Given the description of an element on the screen output the (x, y) to click on. 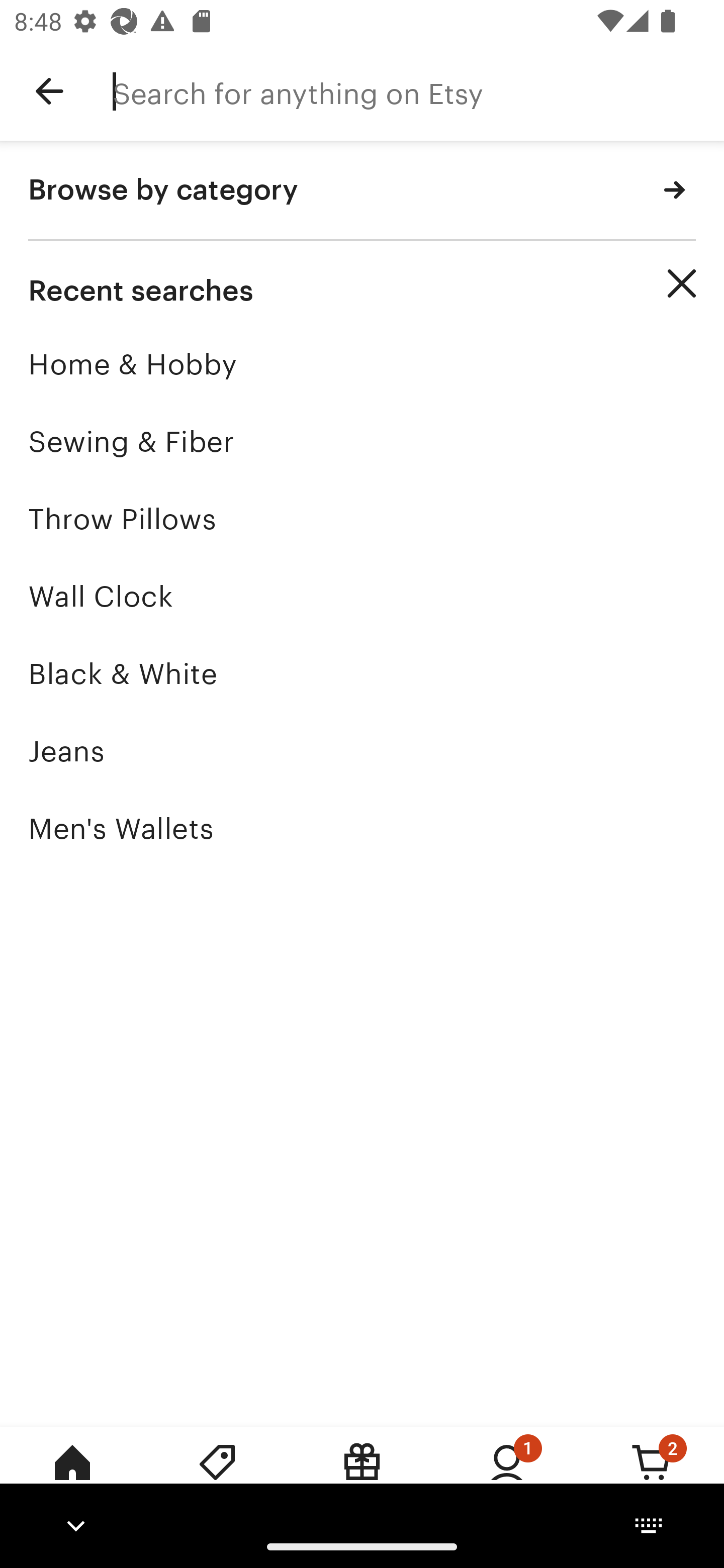
Navigate up (49, 91)
Search for anything on Etsy (418, 91)
Browse by category (362, 191)
Clear (681, 283)
Home & Hobby (362, 364)
Sewing & Fiber (362, 440)
Throw Pillows (362, 518)
Wall Clock (362, 596)
Black & White (362, 673)
Jeans (362, 750)
Men's Wallets (362, 828)
Deals (216, 1475)
Gift Mode (361, 1475)
You, 1 new notification (506, 1475)
Cart, 2 new notifications (651, 1475)
